Given the description of an element on the screen output the (x, y) to click on. 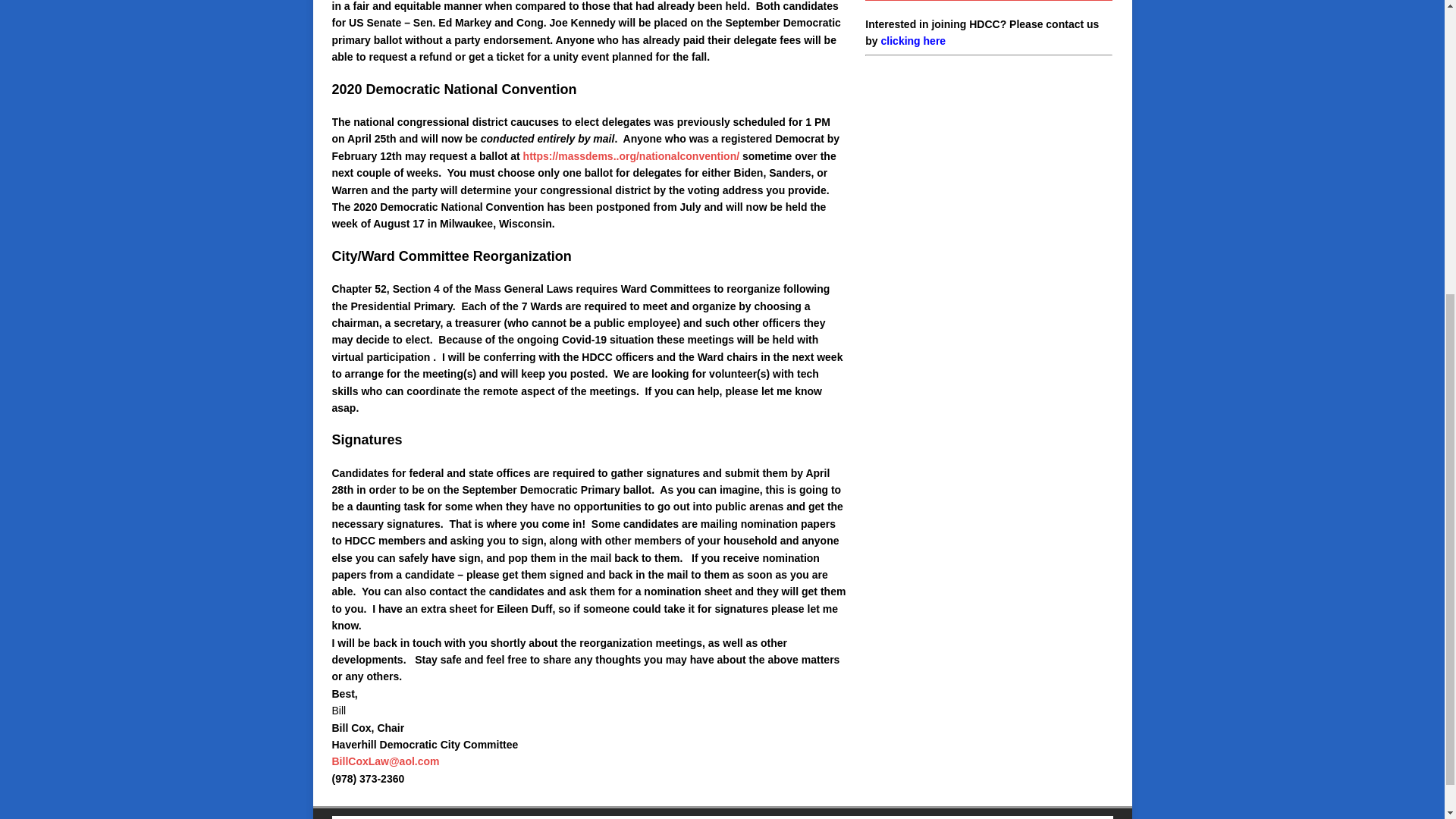
clicking here (913, 40)
